Given the description of an element on the screen output the (x, y) to click on. 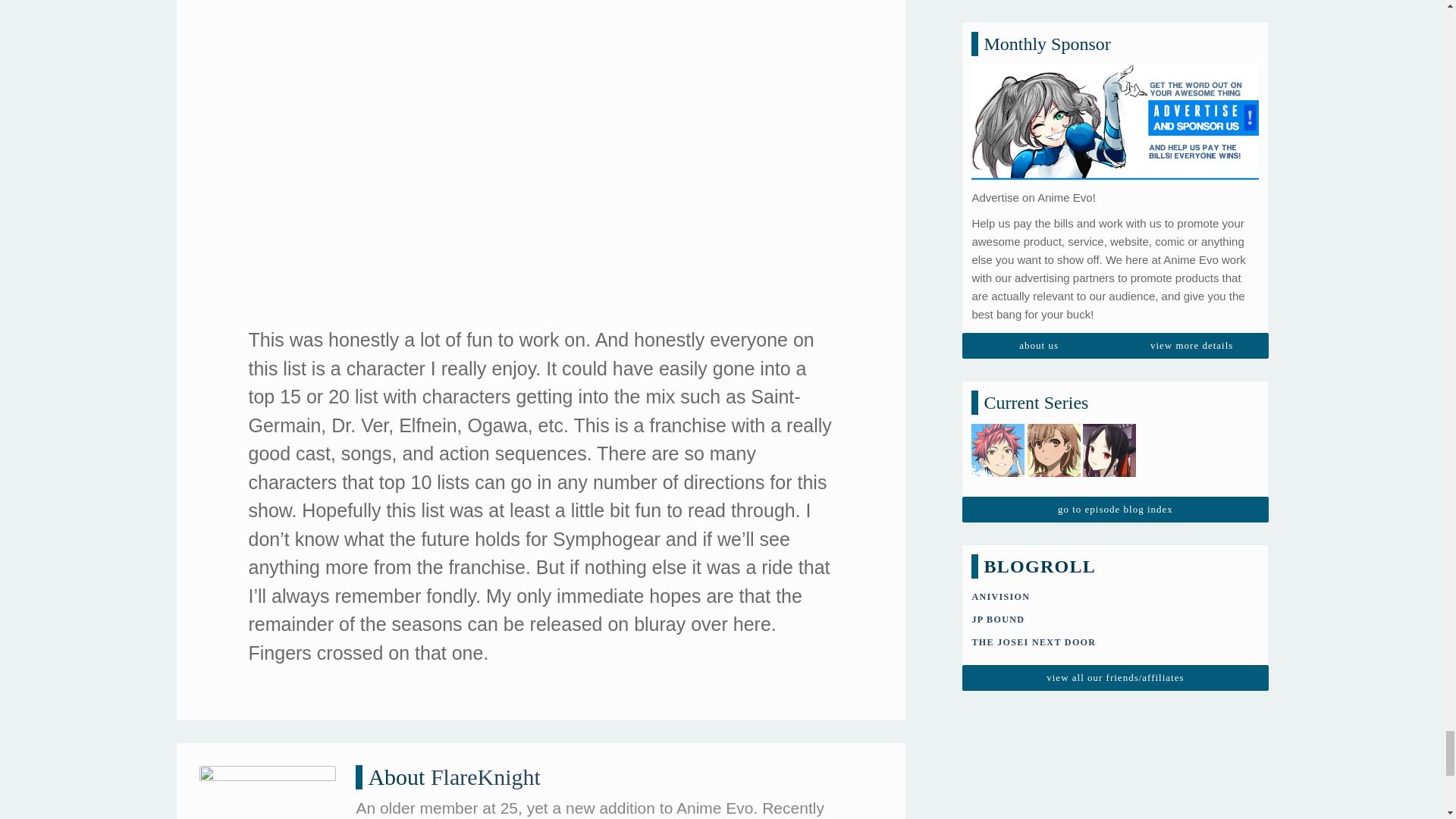
Posts by FlareKnight (485, 776)
